Given the description of an element on the screen output the (x, y) to click on. 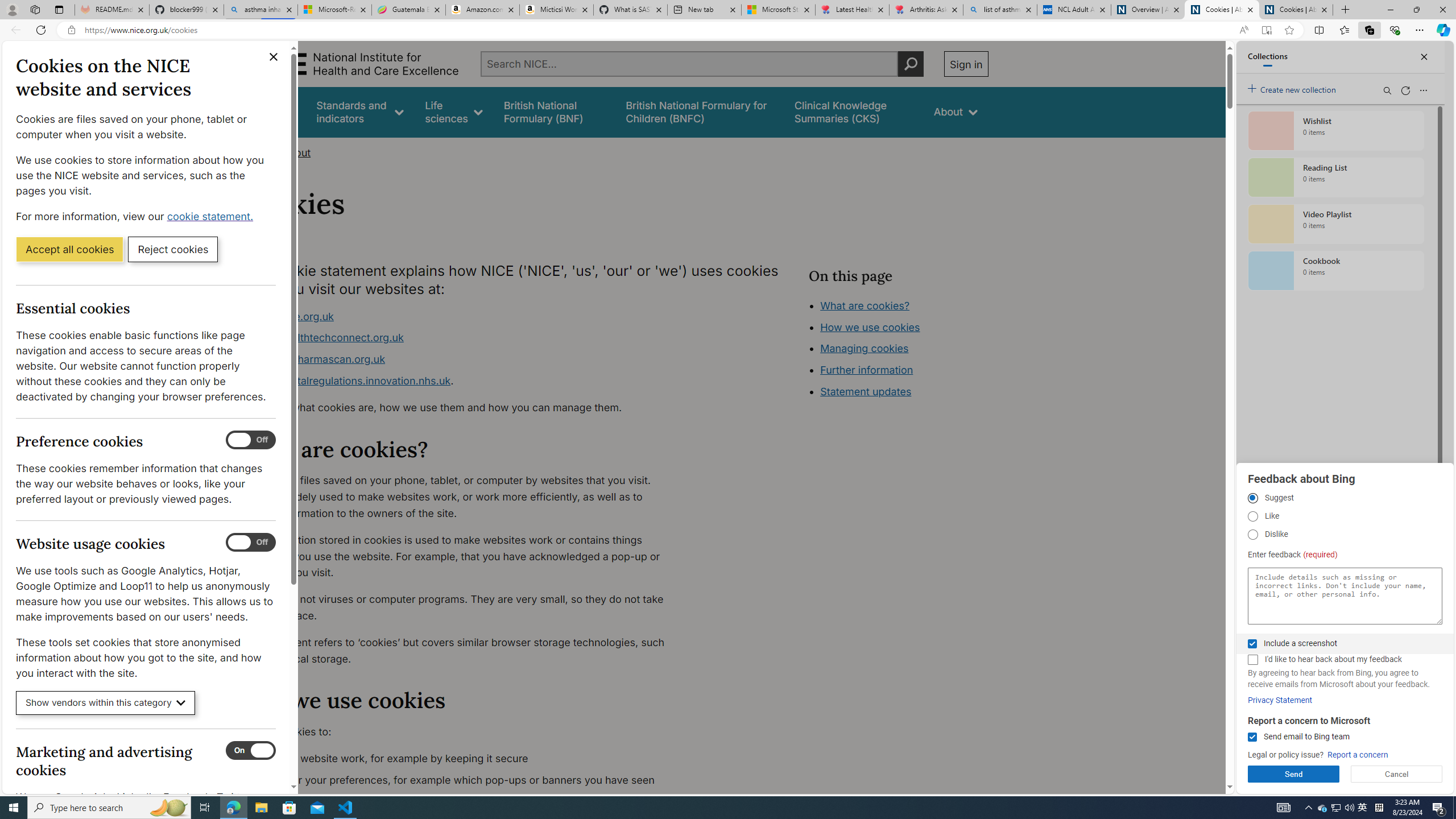
Reject cookies (173, 248)
What are cookies? (864, 305)
Guidance (272, 111)
